Given the description of an element on the screen output the (x, y) to click on. 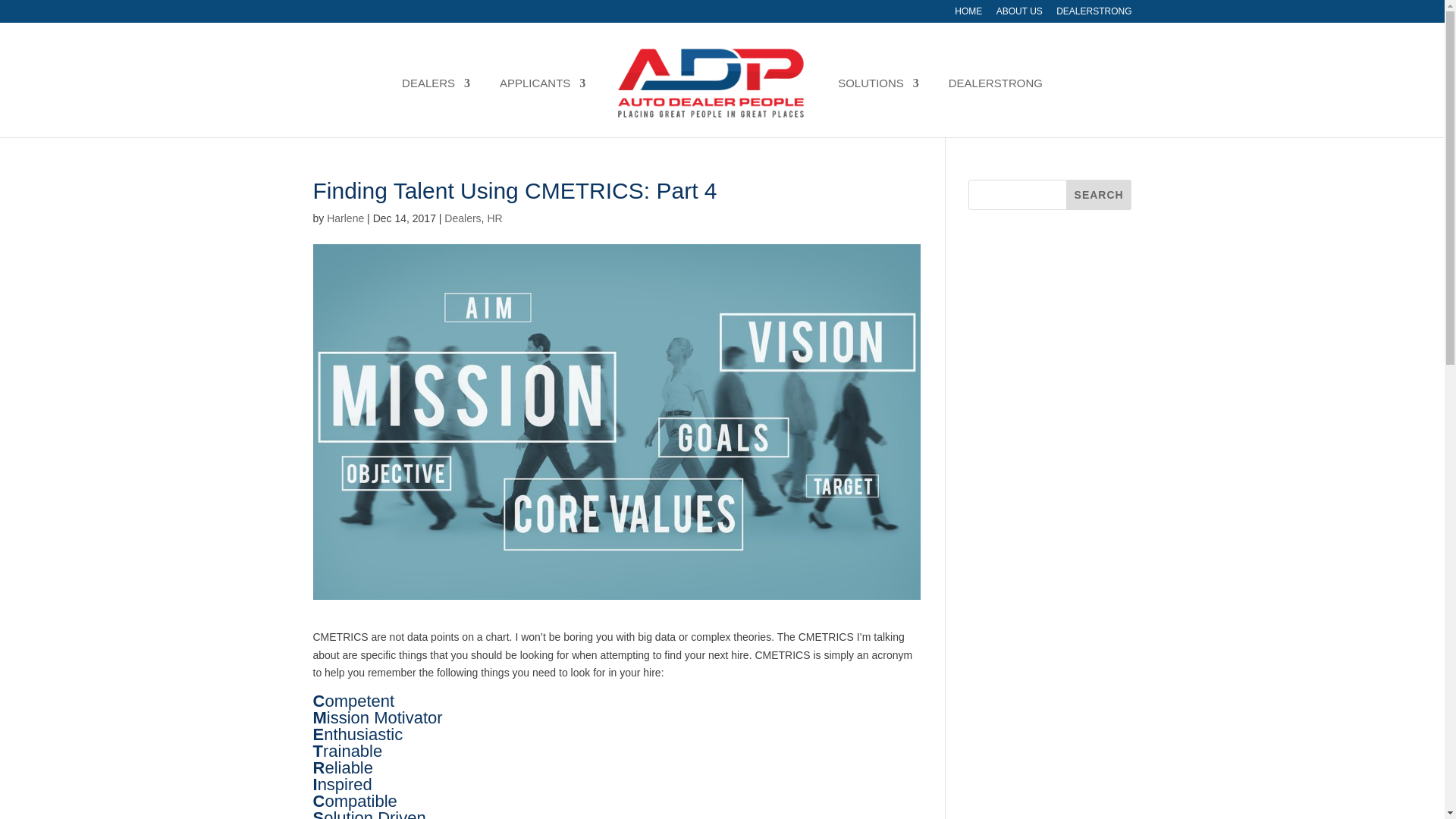
ABOUT US (1018, 14)
DEALERSTRONG (1094, 14)
HR (494, 218)
HOME (968, 14)
APPLICANTS (542, 107)
DEALERS (435, 107)
Search (1098, 194)
Search (1098, 194)
Posts by Harlene (345, 218)
DEALERSTRONG (995, 107)
SOLUTIONS (878, 107)
Dealers (462, 218)
Harlene (345, 218)
